Given the description of an element on the screen output the (x, y) to click on. 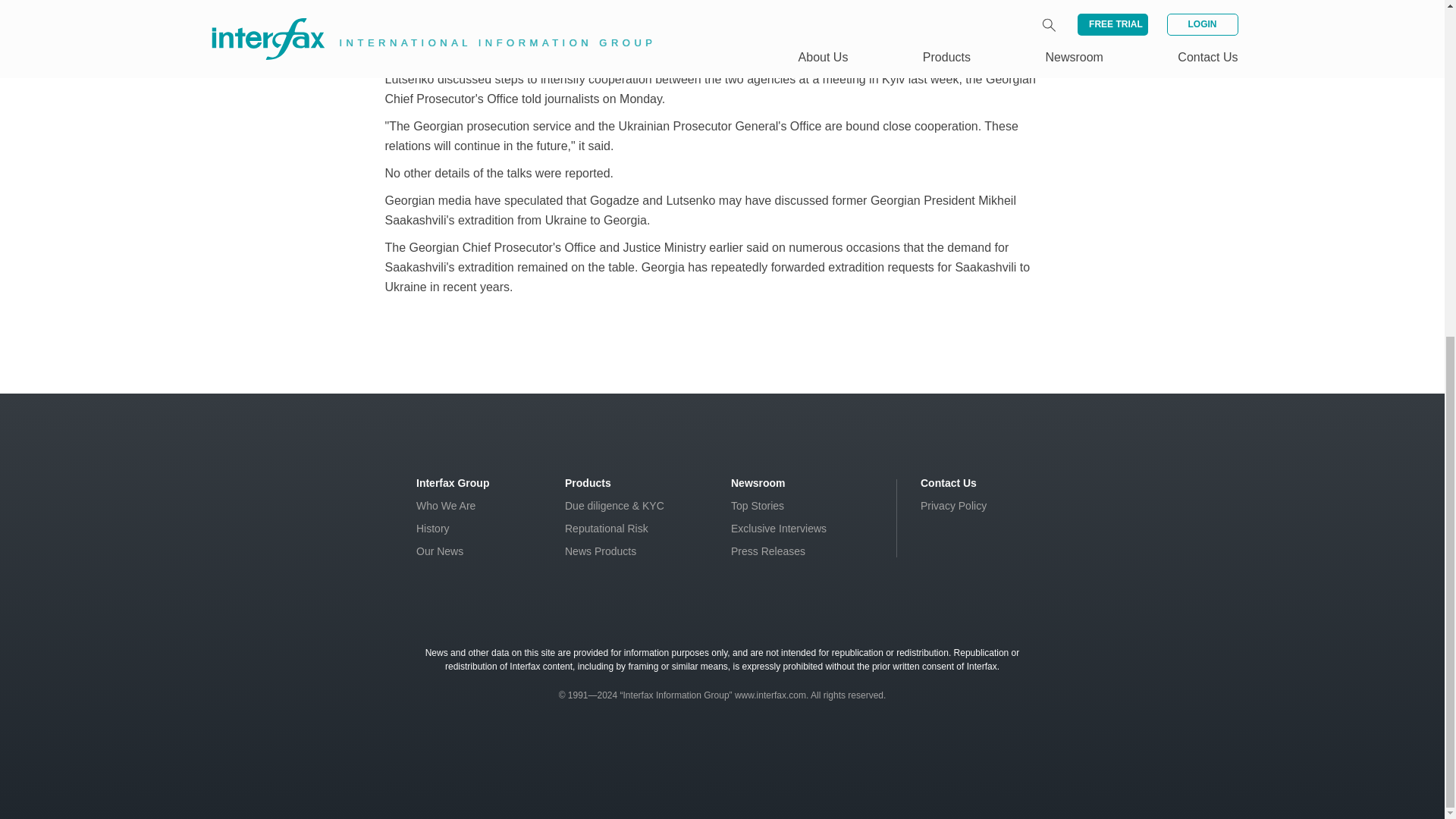
History (432, 528)
Who We Are (446, 505)
Interfax Group (452, 482)
Our News (439, 551)
